Given the description of an element on the screen output the (x, y) to click on. 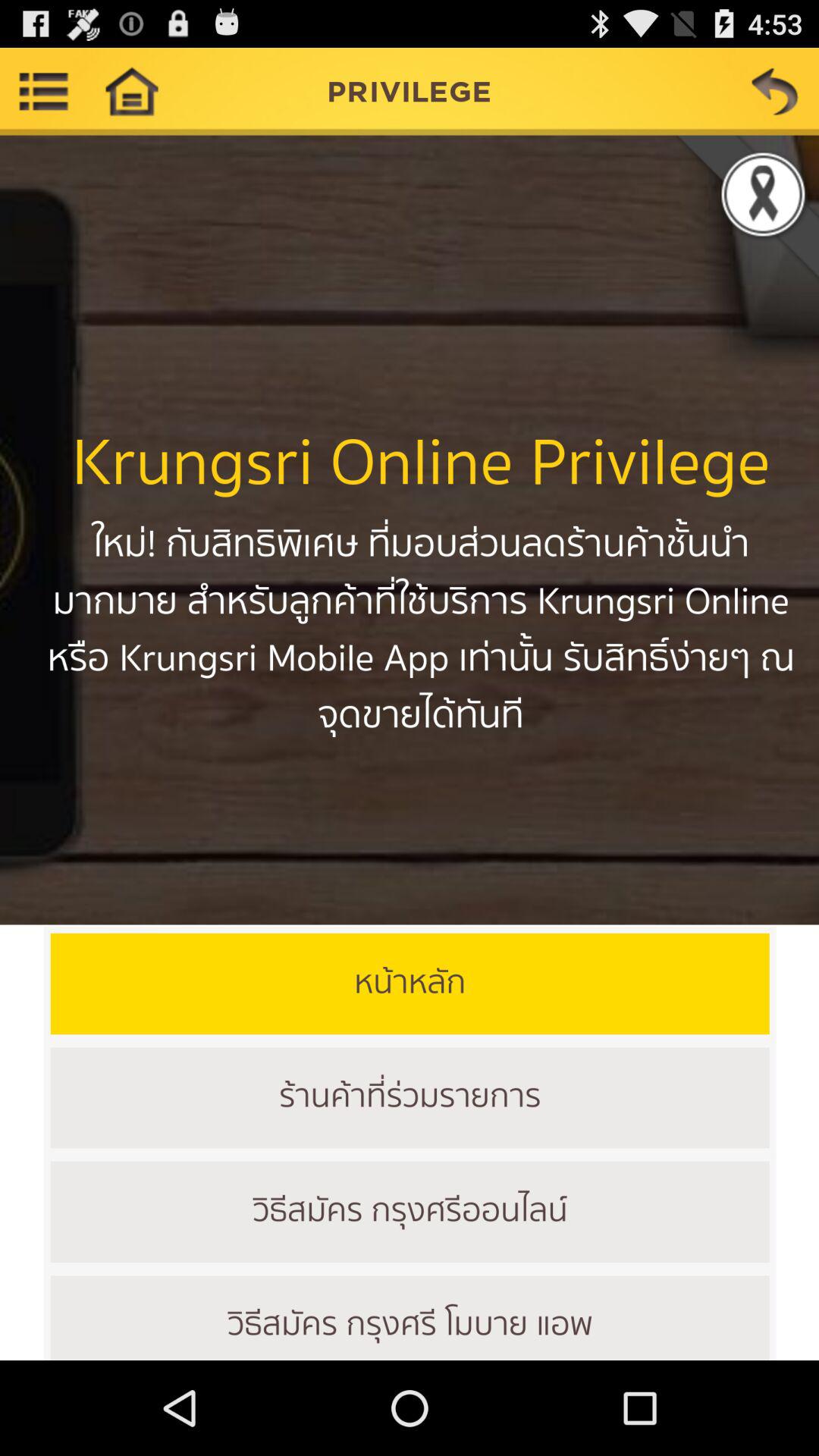
back the option (775, 91)
